Given the description of an element on the screen output the (x, y) to click on. 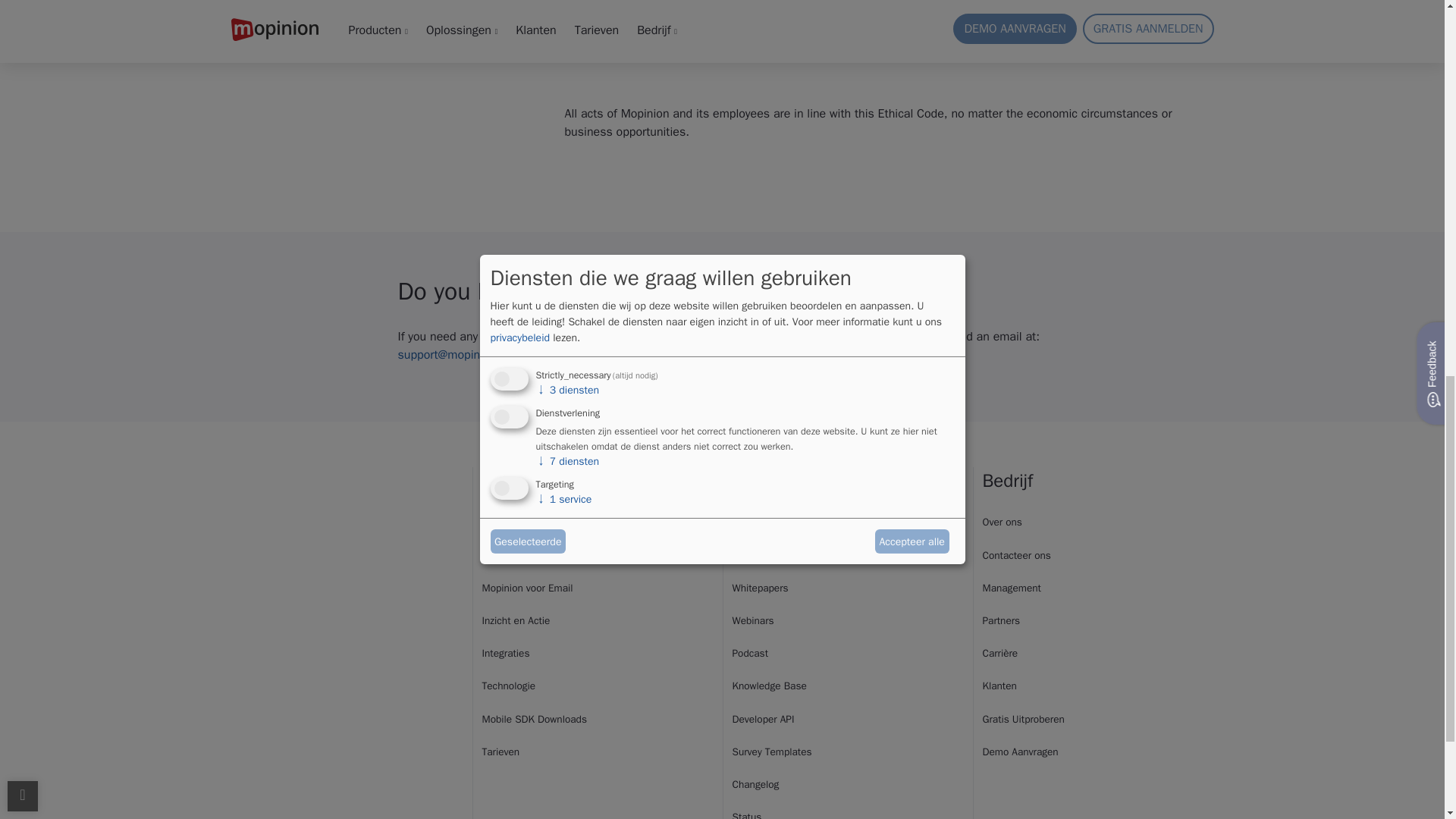
Technologie (508, 685)
Mobile SDK Downloads (533, 718)
Status (746, 814)
Whitepapers (760, 587)
Webinars (750, 653)
Changelog (755, 784)
Tarieven (500, 751)
Knowledge Base (769, 685)
Blog (742, 521)
Webinars (753, 620)
Mopinion voor Email (527, 587)
Survey Templates (772, 751)
Developer API (763, 718)
Integraties (505, 653)
Inzicht en Actie (515, 620)
